Given the description of an element on the screen output the (x, y) to click on. 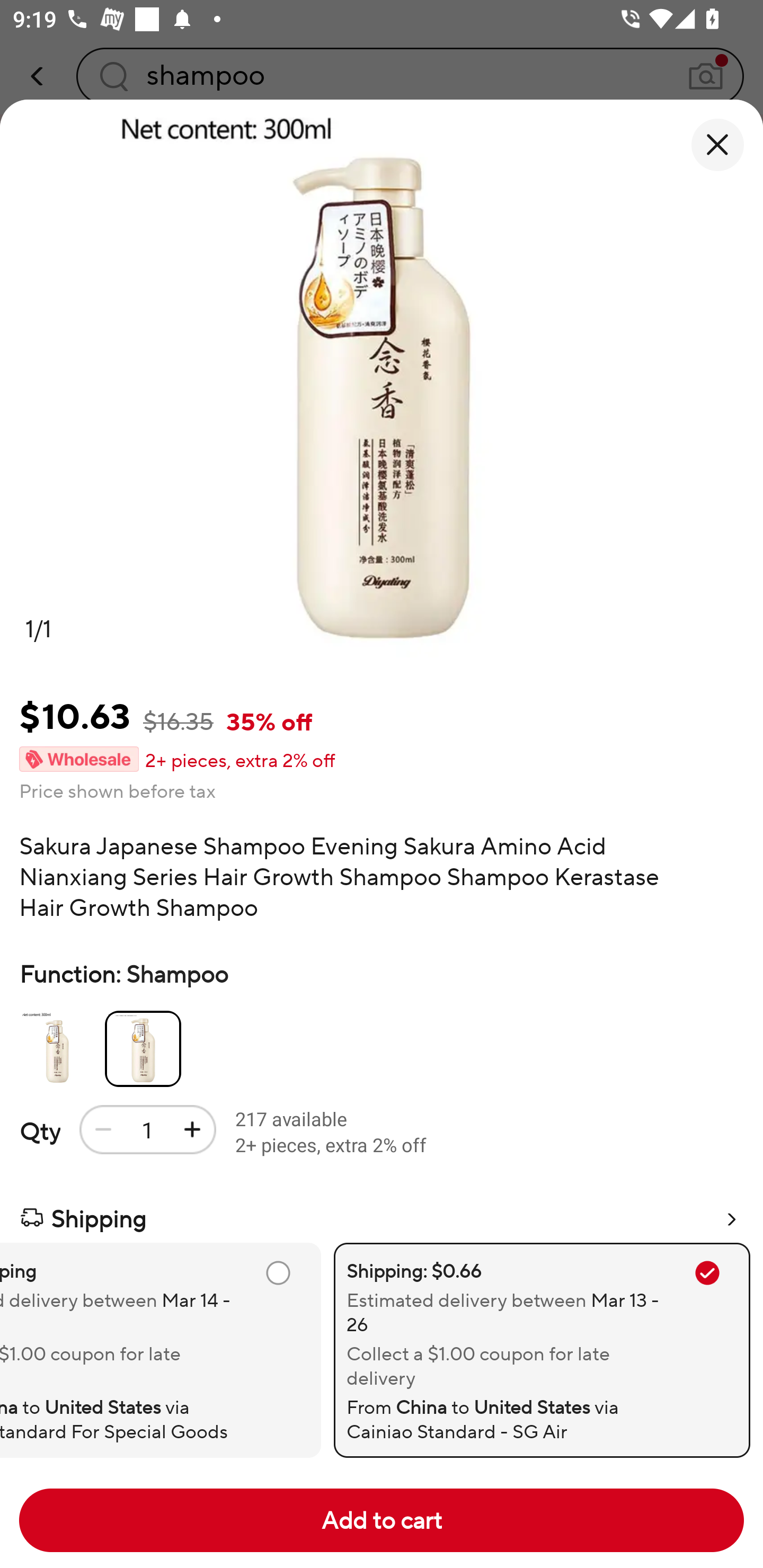
close  (717, 144)
Add to cart (381, 1520)
